Given the description of an element on the screen output the (x, y) to click on. 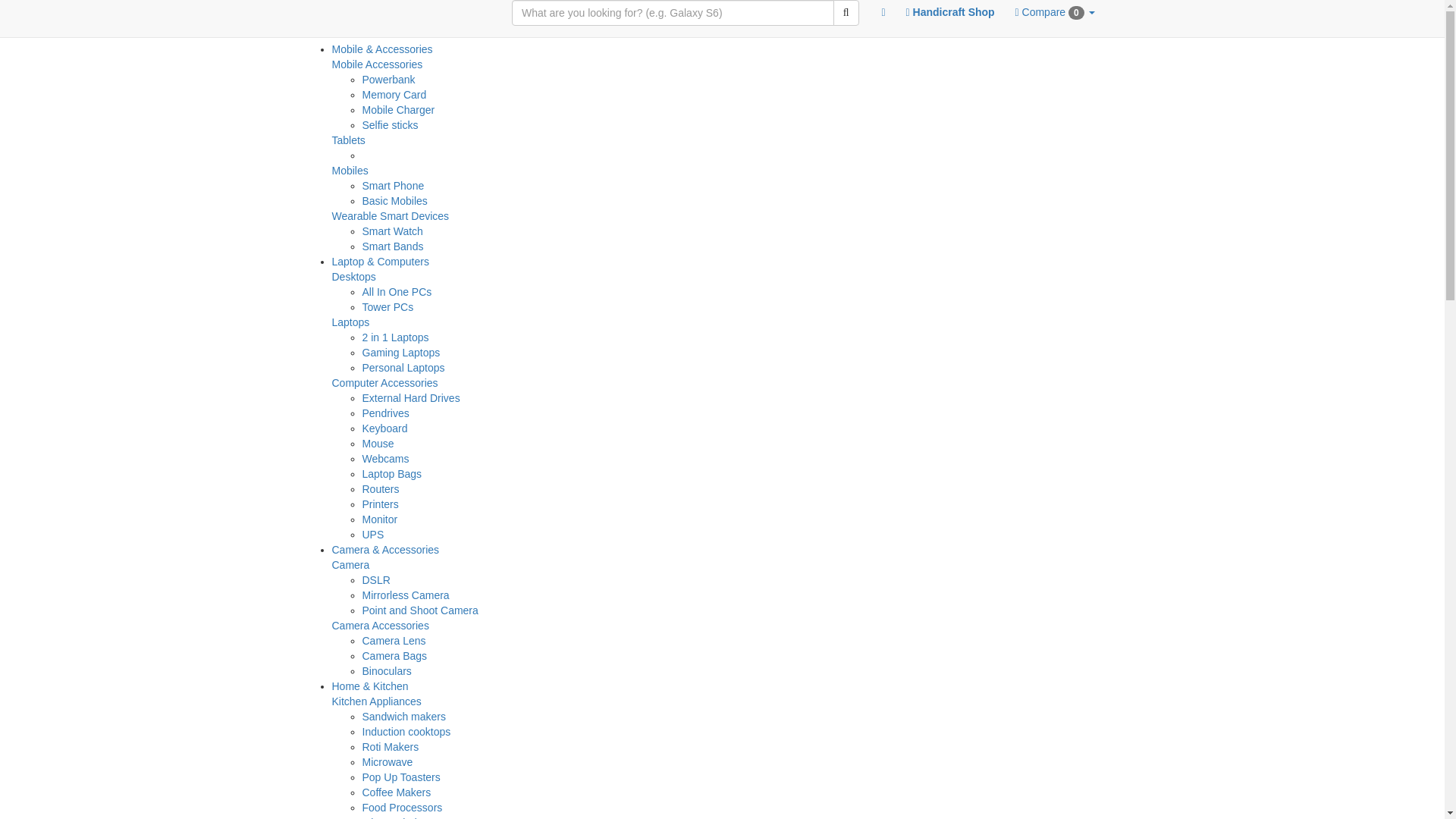
Compare 0 (1054, 11)
Mobile Accessories (377, 64)
Handicraft Shop (950, 12)
Mobile Charger (398, 110)
Back to Home (882, 12)
Selfie sticks (390, 124)
Tablets (348, 140)
Powerbank (388, 79)
Memory Card (394, 94)
